Given the description of an element on the screen output the (x, y) to click on. 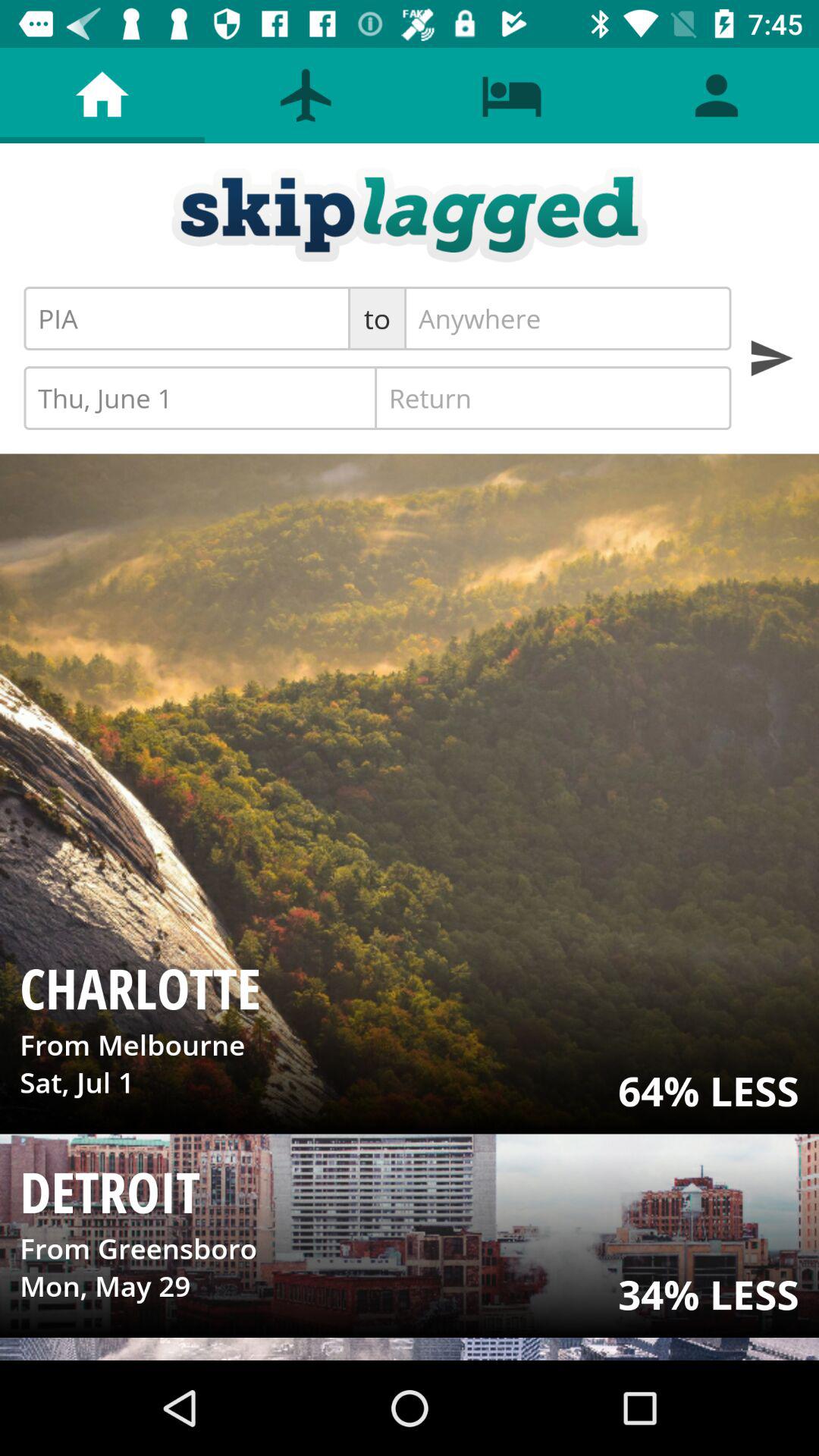
open item below the to icon (202, 397)
